Given the description of an element on the screen output the (x, y) to click on. 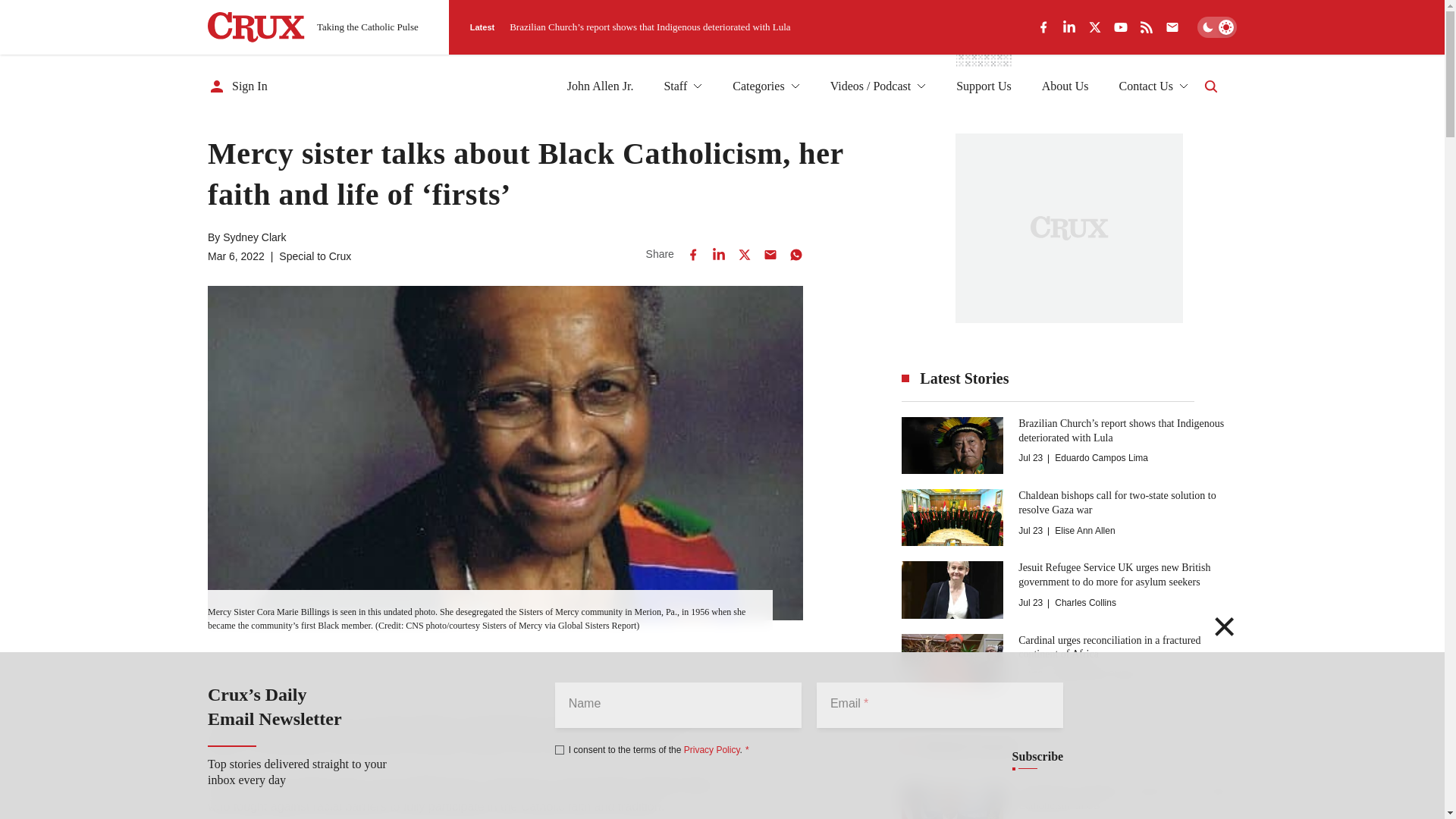
John Allen Jr. (600, 85)
Support Us (983, 85)
Subscribe (1037, 756)
Sign In (237, 85)
Privacy Policy (711, 749)
Staff (682, 85)
Categories (765, 85)
true (559, 749)
